Given the description of an element on the screen output the (x, y) to click on. 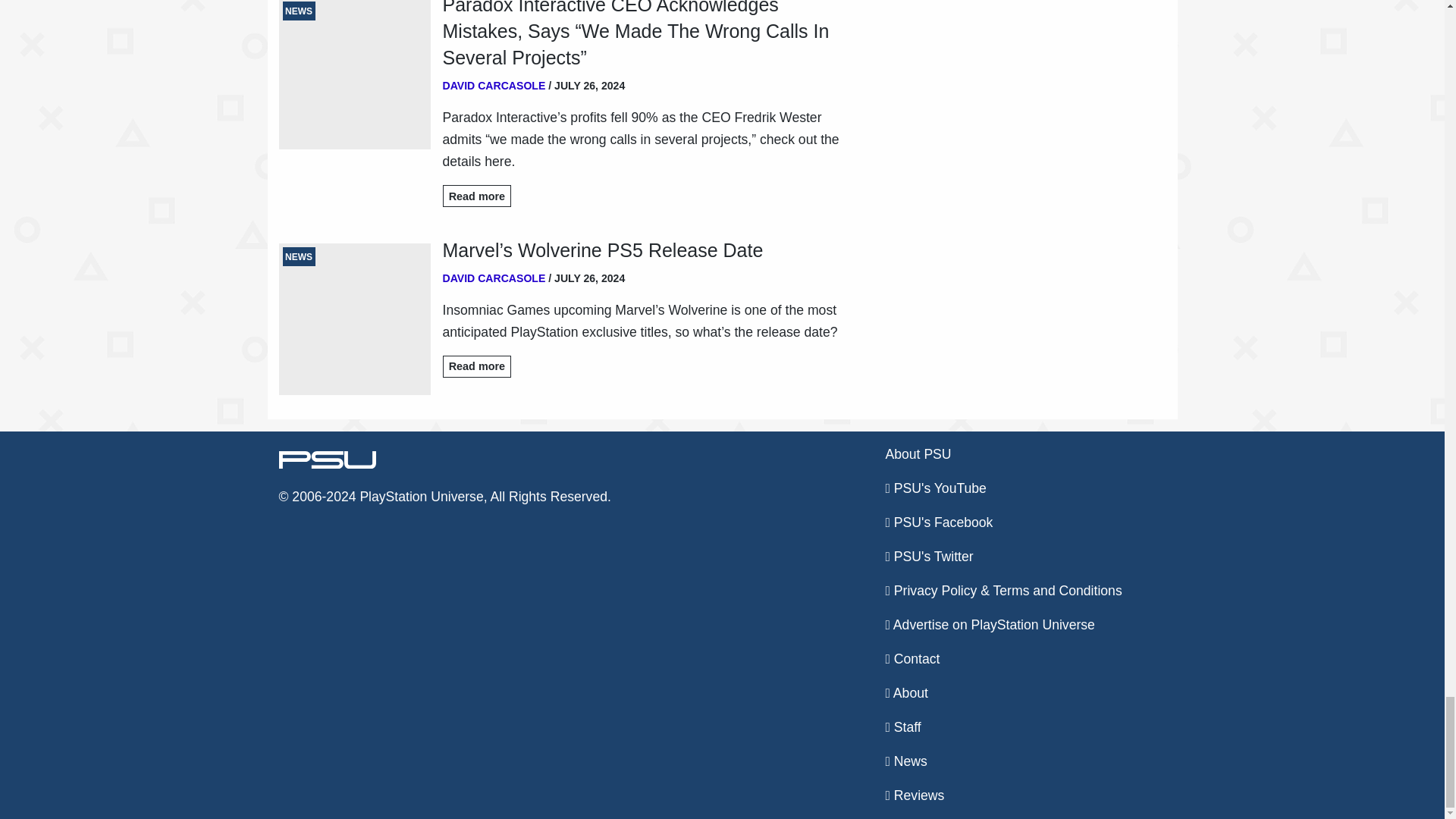
NEWS (354, 74)
Read more (477, 196)
Read more (477, 366)
DAVID CARCASOLE (494, 85)
DAVID CARCASOLE (494, 277)
NEWS (354, 318)
